Given the description of an element on the screen output the (x, y) to click on. 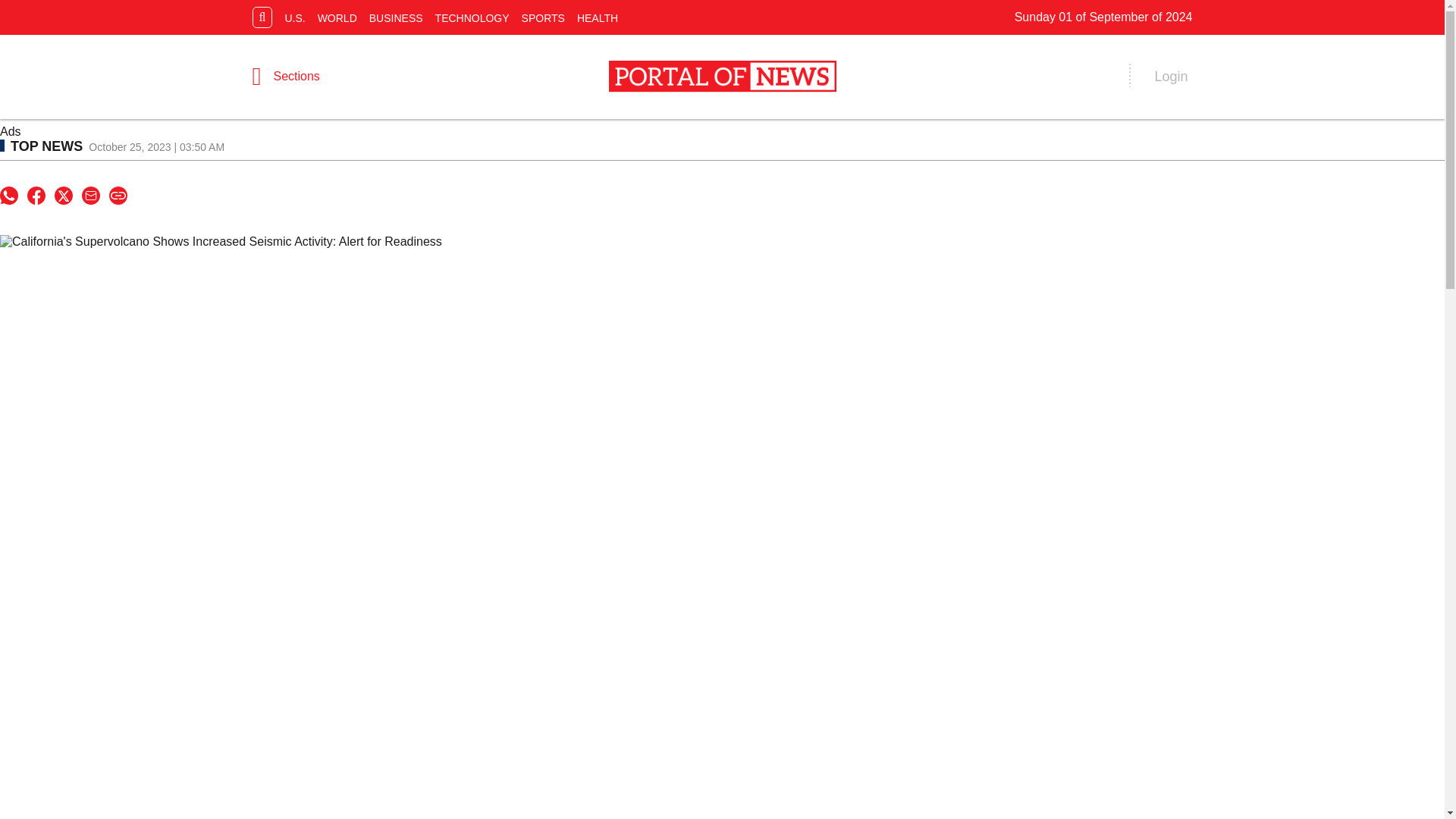
BUSINESS (395, 17)
SPORTS (542, 17)
TOP NEWS (41, 146)
HEALTH (597, 17)
Login (1171, 76)
TECHNOLOGY (472, 17)
WORLD (336, 17)
U.S. (294, 17)
